Given the description of an element on the screen output the (x, y) to click on. 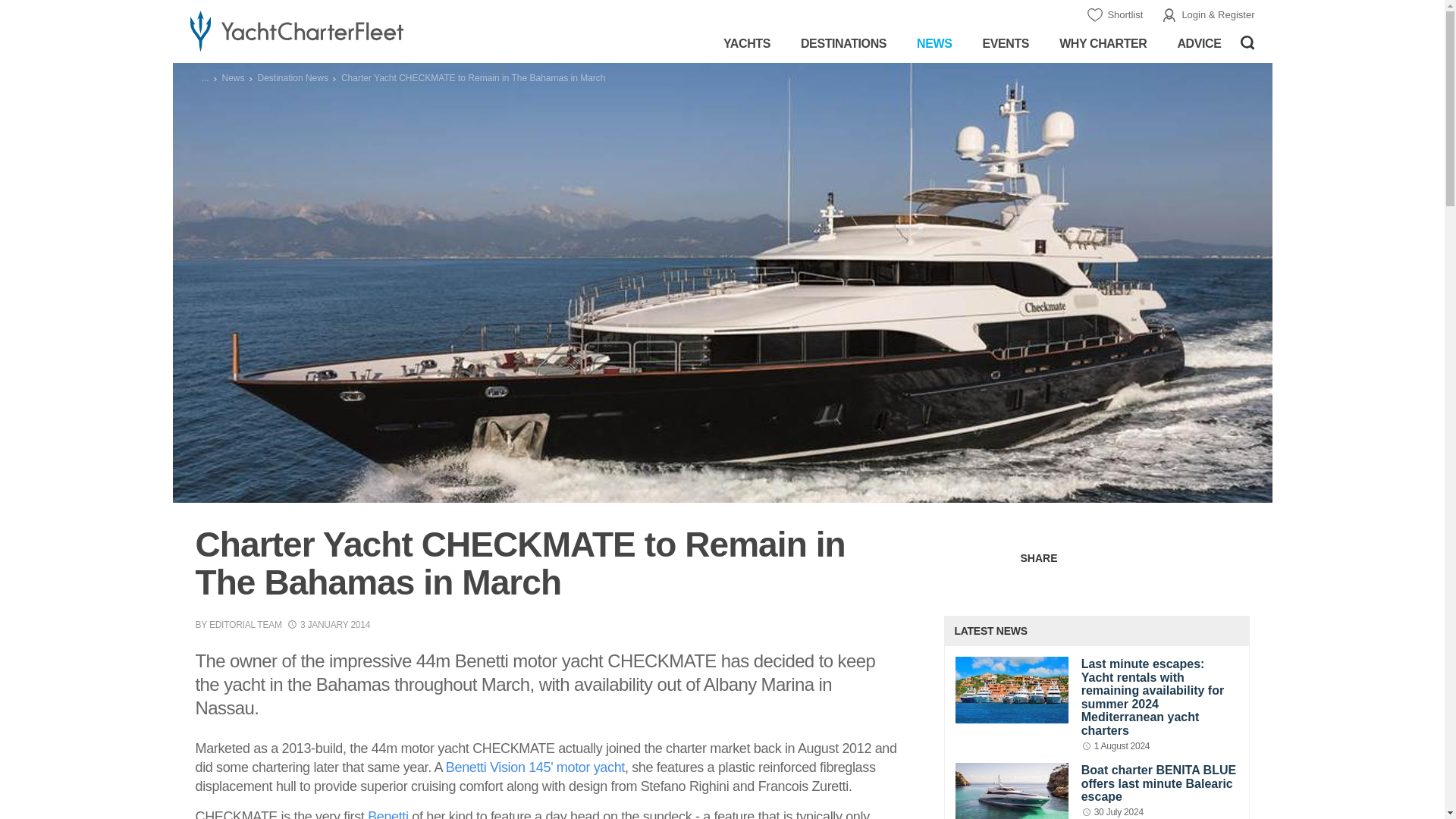
Back to Homepage (343, 30)
